Given the description of an element on the screen output the (x, y) to click on. 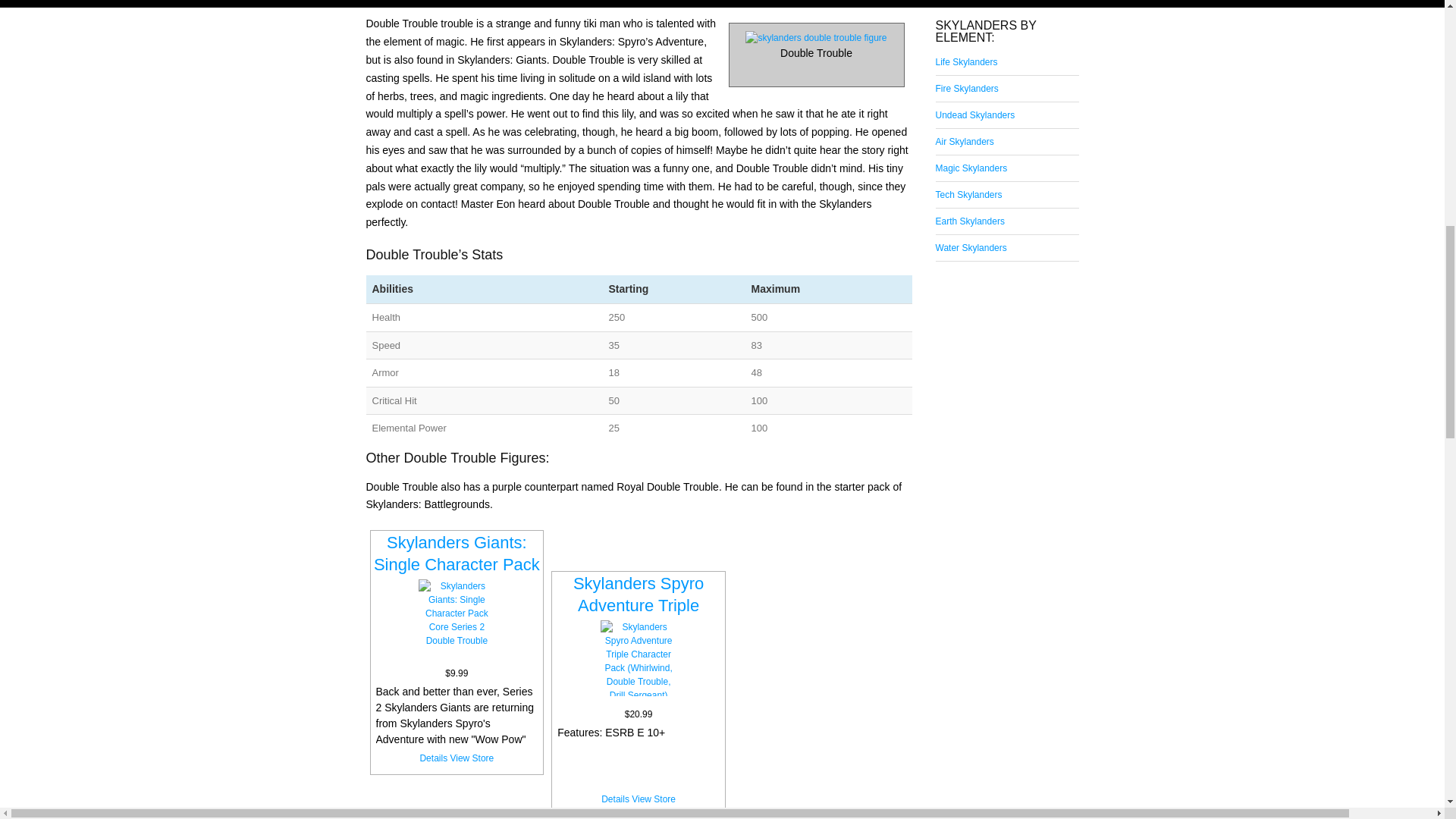
View Store (653, 798)
Details (614, 798)
View Store (471, 757)
Details (432, 757)
Double Trouble (816, 47)
